Given the description of an element on the screen output the (x, y) to click on. 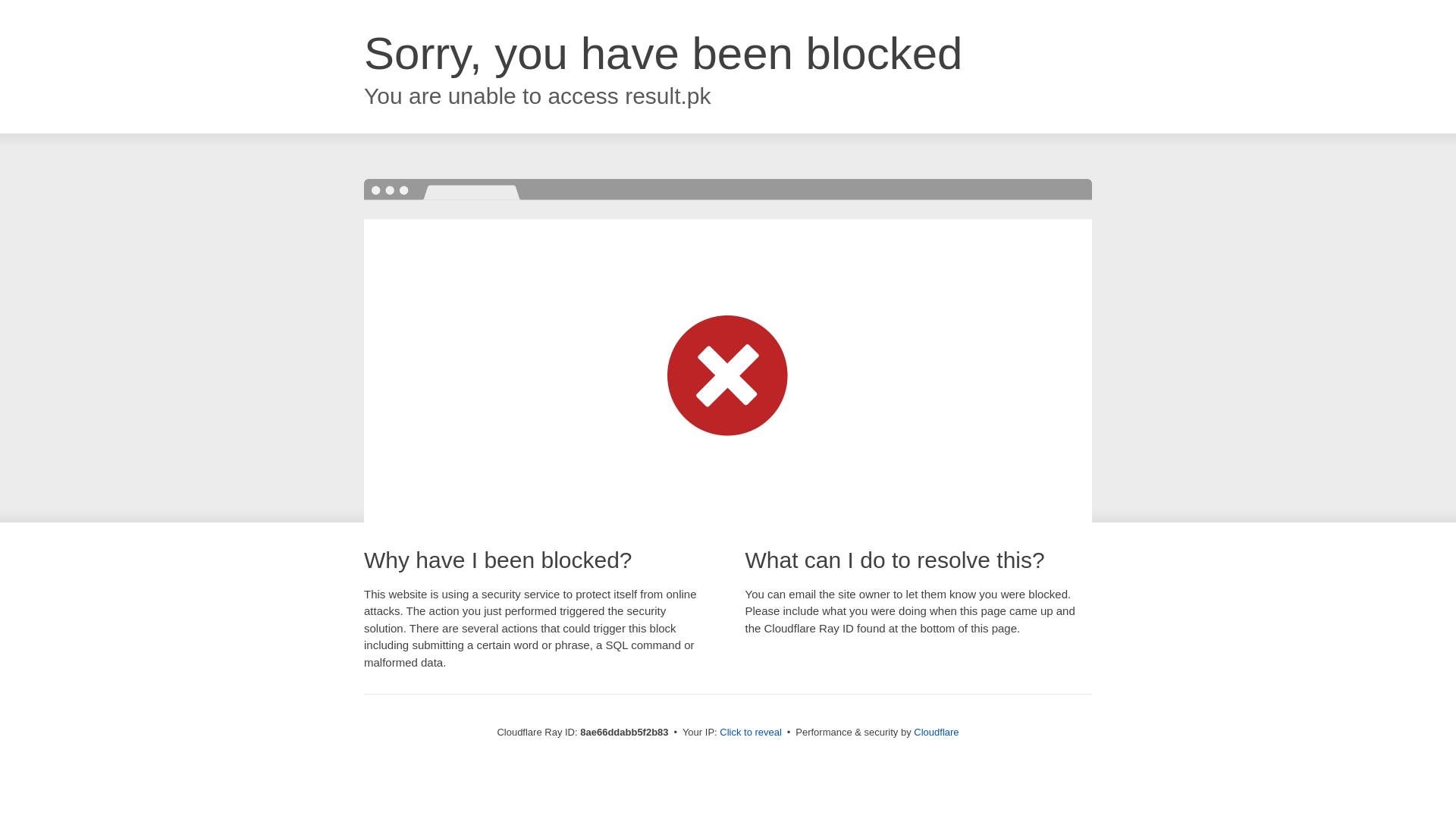
Cloudflare (936, 731)
Click to reveal (750, 732)
